Given the description of an element on the screen output the (x, y) to click on. 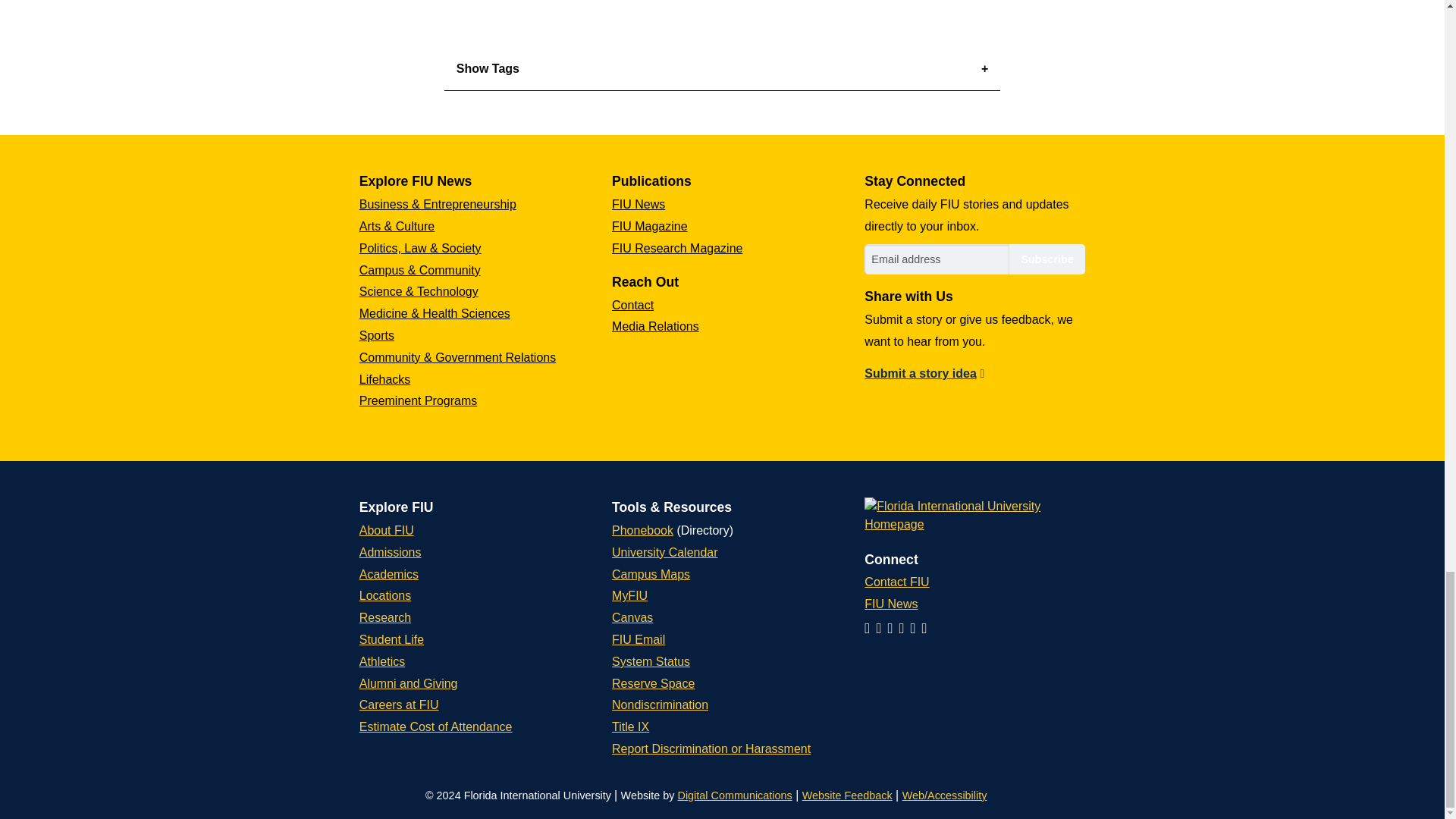
Show Tags (722, 68)
Preeminent Programs (418, 400)
Subscribe (1046, 259)
FIU News (638, 204)
Sports (376, 335)
Lifehacks (384, 379)
